Given the description of an element on the screen output the (x, y) to click on. 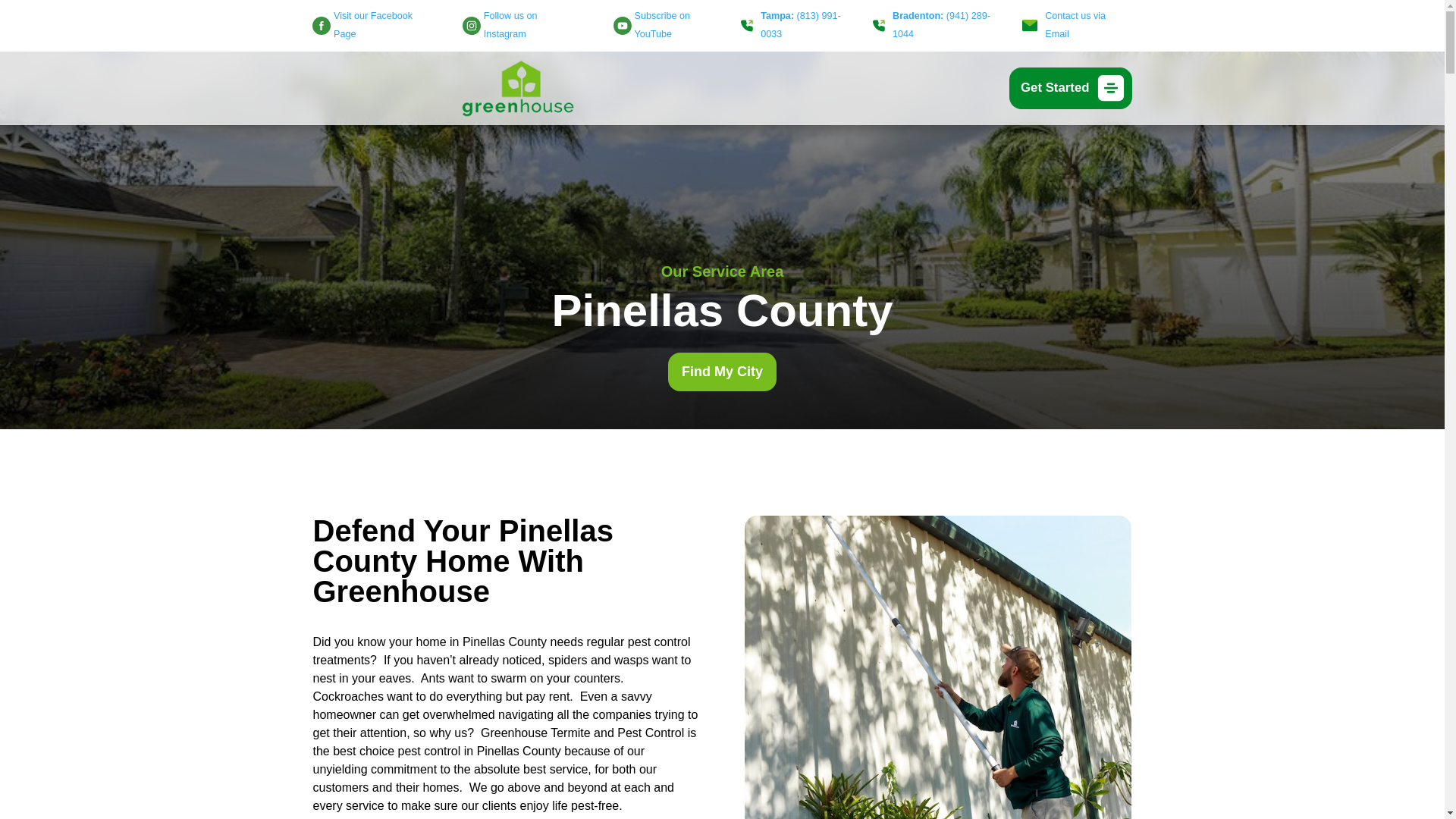
ghe-logo (518, 87)
 Visit our Facebook Page (374, 25)
 Follow us on Instagram (521, 25)
 Subscribe on YouTube (670, 25)
Contact us via Email (1076, 25)
